Given the description of an element on the screen output the (x, y) to click on. 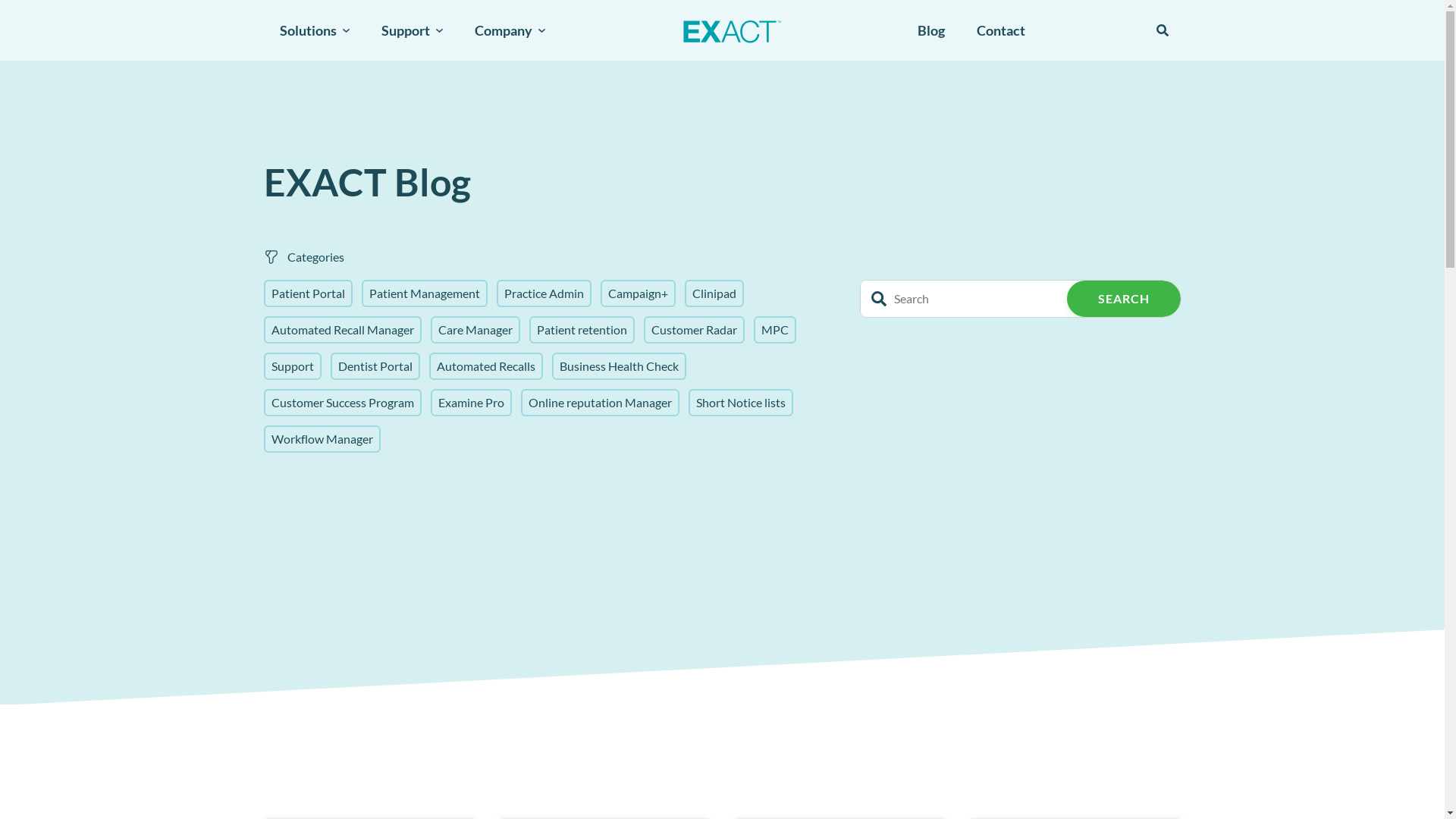
Search for content Element type: text (1162, 30)
Campaign+ Element type: text (637, 293)
Automated Recall Manager Element type: text (342, 329)
Online reputation Manager Element type: text (599, 402)
Customer Success Program Element type: text (342, 402)
Customer Radar Element type: text (693, 329)
Patient retention Element type: text (581, 329)
Clinipad Element type: text (713, 293)
Workflow Manager Element type: text (321, 438)
Patient Management Element type: text (423, 293)
Automated Recalls Element type: text (485, 365)
SEARCH Element type: text (1122, 298)
Contact Element type: text (1000, 30)
Short Notice lists Element type: text (740, 402)
Support Element type: text (411, 30)
Dentist Portal Element type: text (375, 365)
Company Element type: text (509, 30)
Examine Pro Element type: text (470, 402)
Care Manager Element type: text (475, 329)
Patient Portal Element type: text (307, 293)
Solutions Element type: text (313, 30)
exact-logo1 Element type: text (730, 30)
Support Element type: text (292, 365)
Blog Element type: text (931, 30)
Business Health Check Element type: text (619, 365)
Practice Admin Element type: text (542, 293)
MPC Element type: text (774, 329)
